Given the description of an element on the screen output the (x, y) to click on. 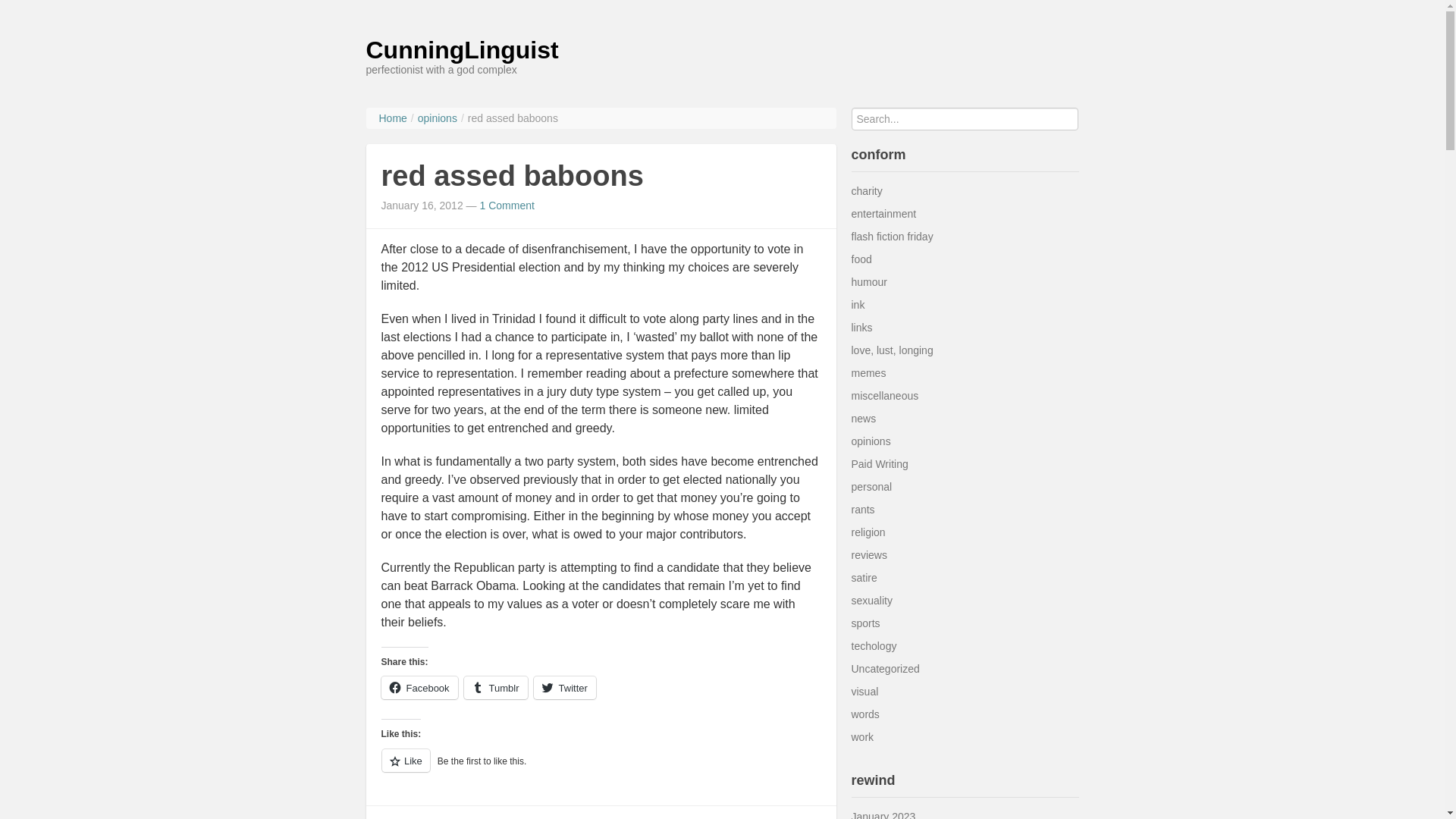
CunningLinguist (461, 49)
Click to share on Twitter (564, 687)
news (863, 418)
love, lust, longing (891, 349)
Facebook (418, 687)
Click to share on Tumblr (495, 687)
flash fiction friday (891, 236)
miscellaneous (884, 395)
1 Comment (506, 205)
Click to share on Facebook (418, 687)
sexuality (870, 600)
opinions (869, 440)
Paid Writing (878, 463)
charity (866, 191)
religion (867, 532)
